Given the description of an element on the screen output the (x, y) to click on. 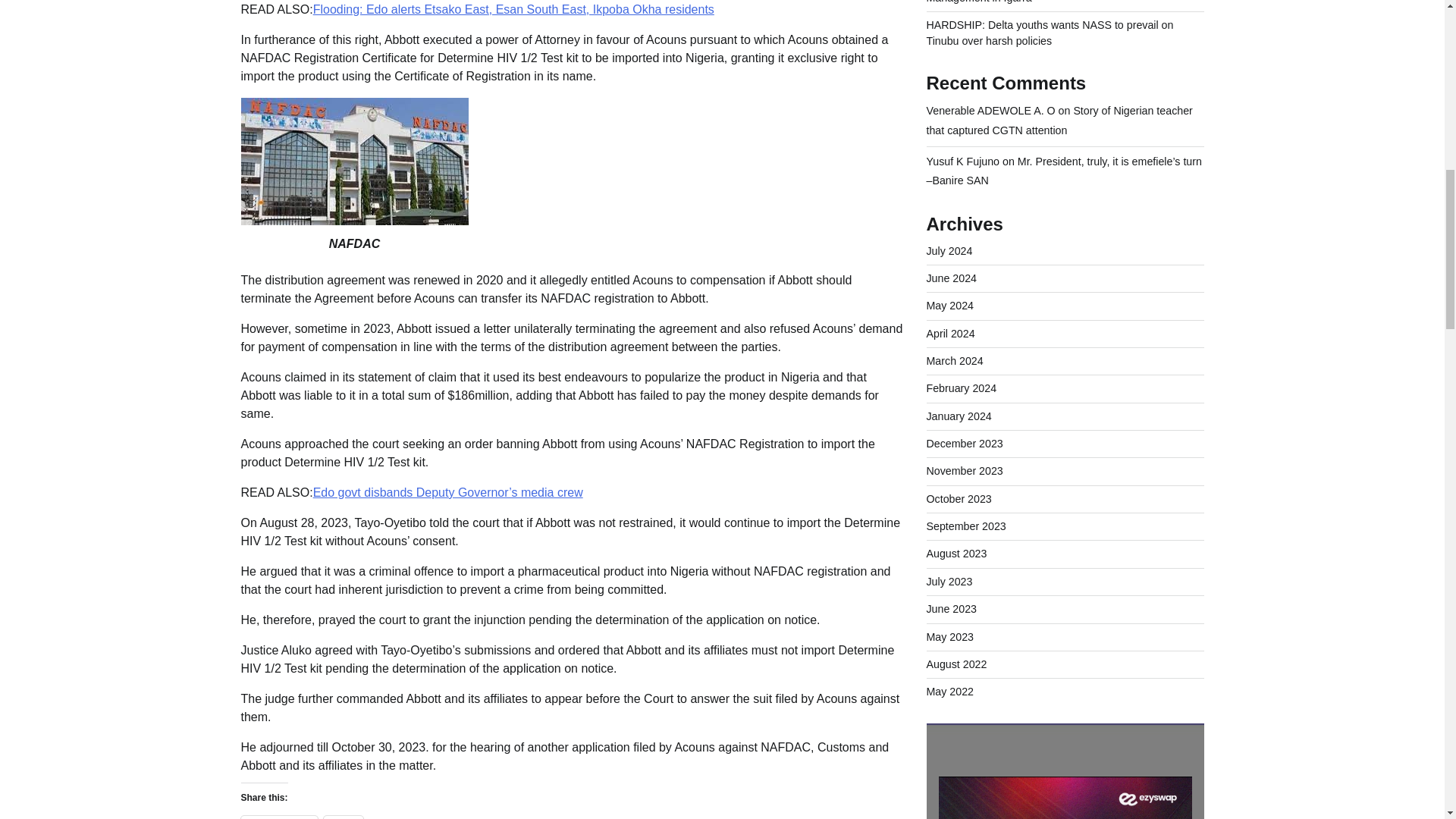
Facebook (279, 817)
Click to share on X (343, 817)
Click to share on Facebook (279, 817)
X (343, 817)
